Given the description of an element on the screen output the (x, y) to click on. 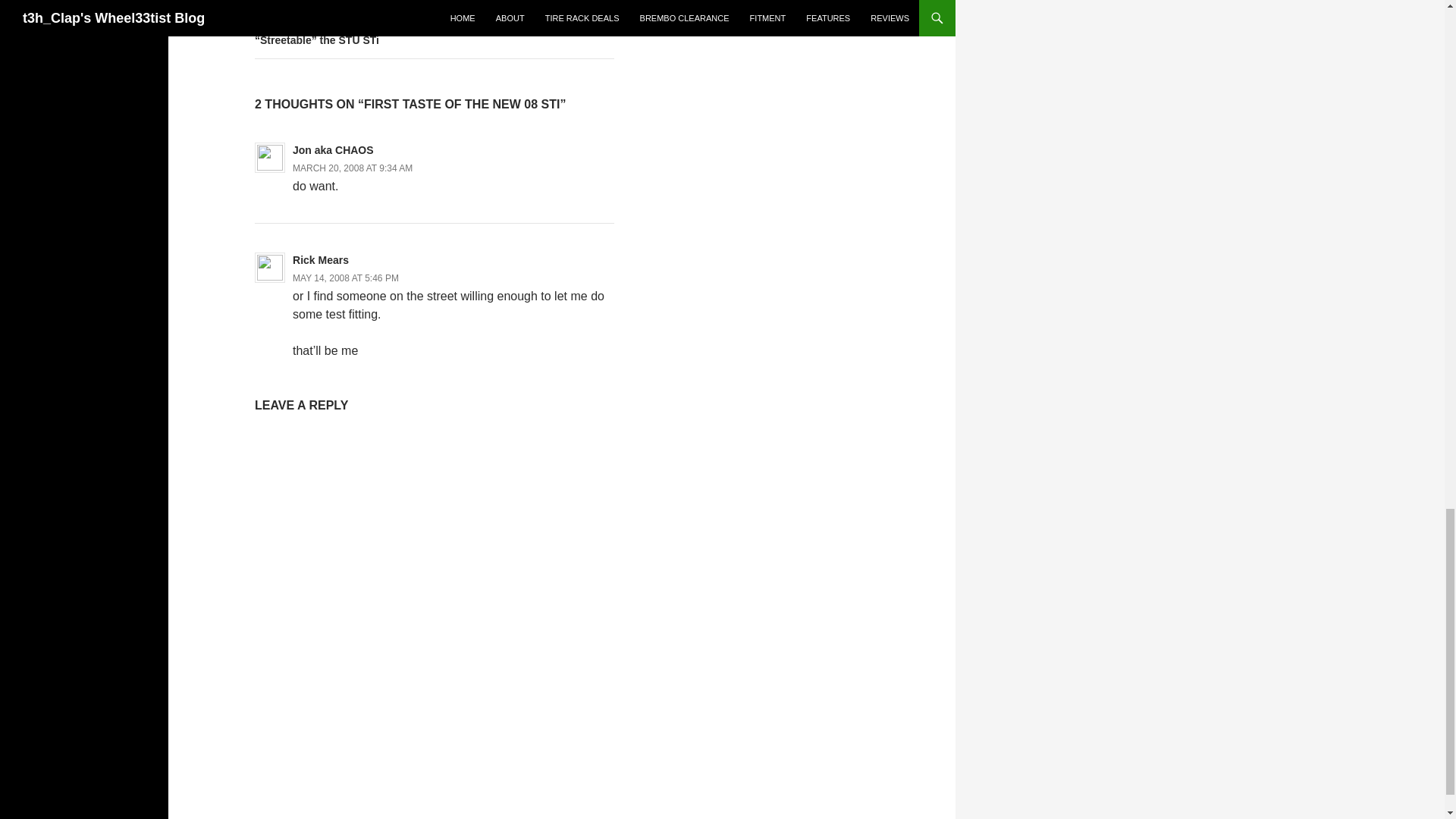
MARCH 20, 2008 AT 9:34 AM (352, 167)
Comment Form (434, 596)
MAY 14, 2008 AT 5:46 PM (345, 277)
